Given the description of an element on the screen output the (x, y) to click on. 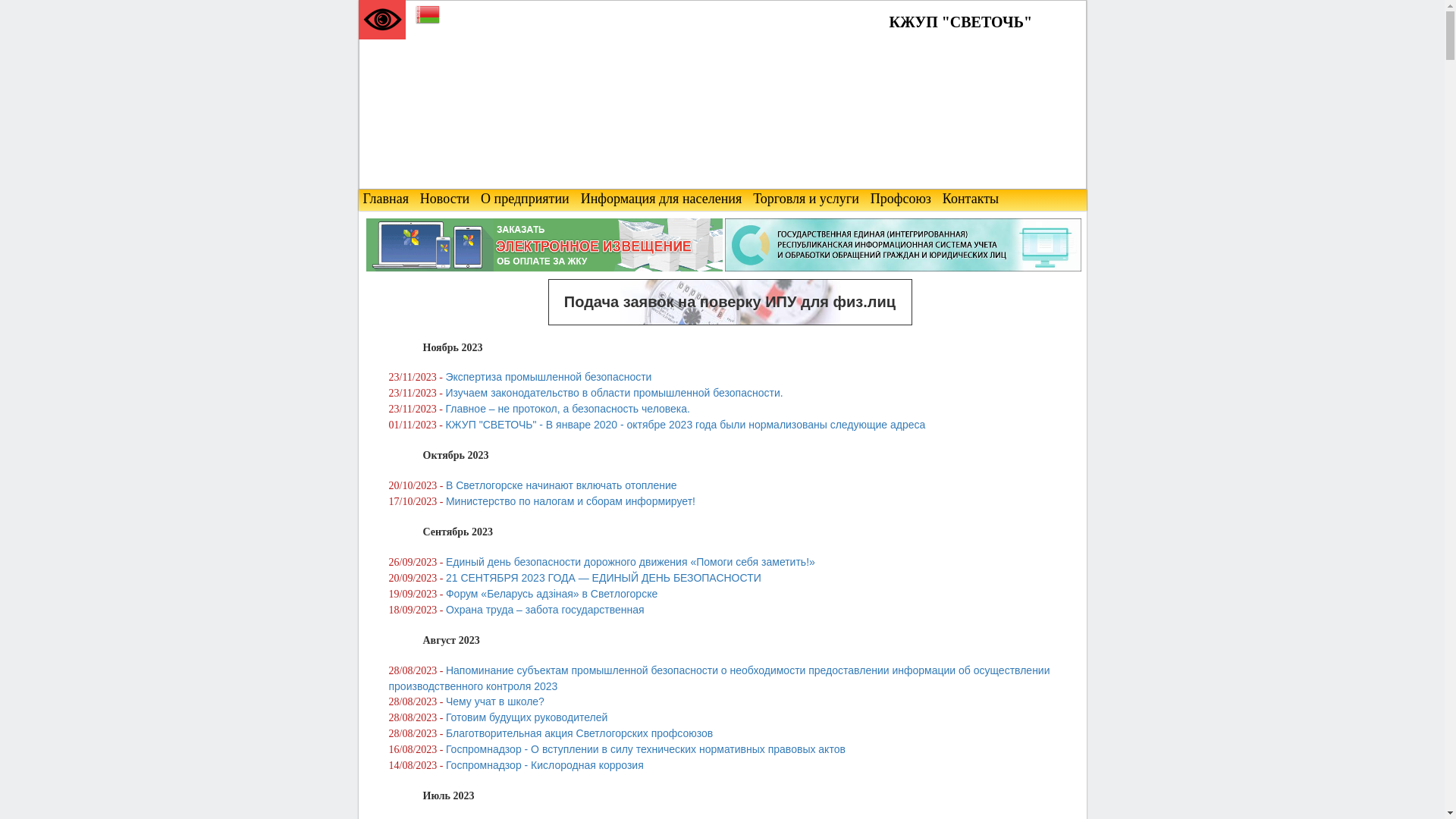
Belarusian Element type: hover (427, 16)
